Given the description of an element on the screen output the (x, y) to click on. 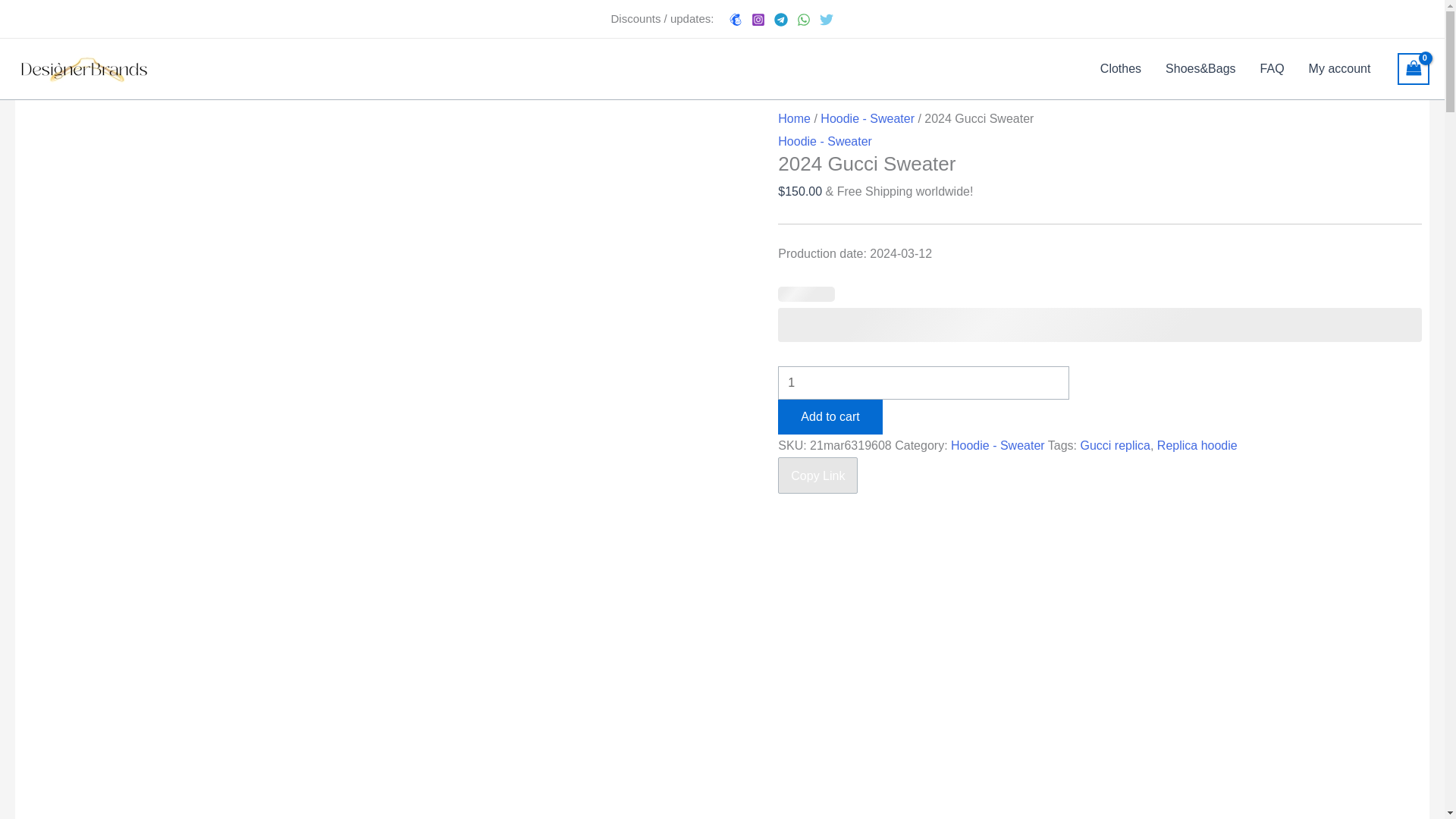
Copy Link (817, 475)
Replica hoodie (1197, 445)
1 (922, 382)
Hoodie - Sweater (824, 141)
My account (1340, 68)
Hoodie - Sweater (867, 118)
Hoodie - Sweater (997, 445)
Clothes (1120, 68)
Add to cart (829, 416)
Gucci replica (1115, 445)
